Given the description of an element on the screen output the (x, y) to click on. 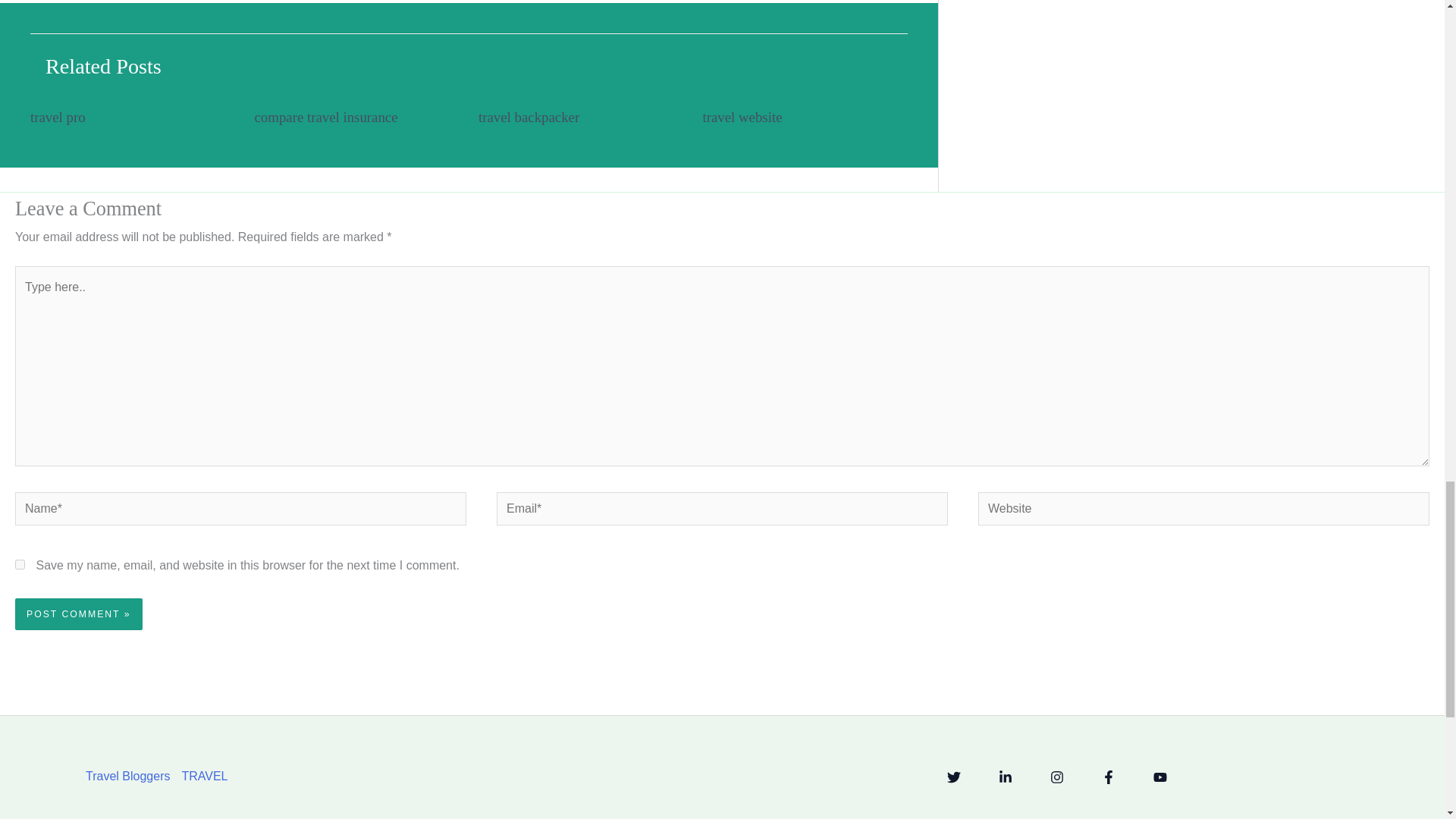
compare travel insurance (325, 116)
yes (19, 564)
travel website (741, 116)
travel backpacker (529, 116)
travel pro (57, 116)
